Given the description of an element on the screen output the (x, y) to click on. 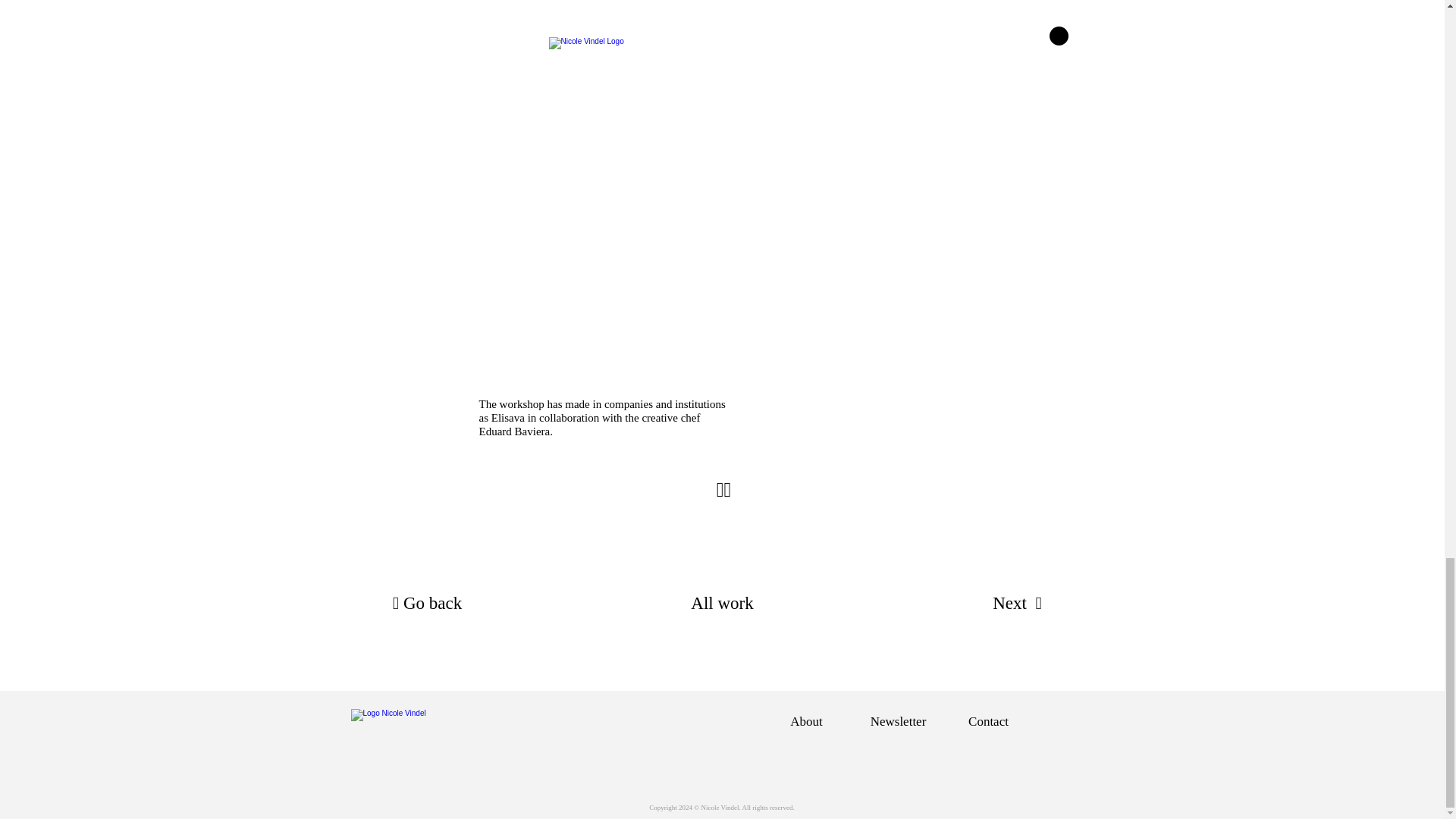
All work (722, 603)
About (805, 721)
Contact (987, 721)
Newsletter (897, 721)
